Given the description of an element on the screen output the (x, y) to click on. 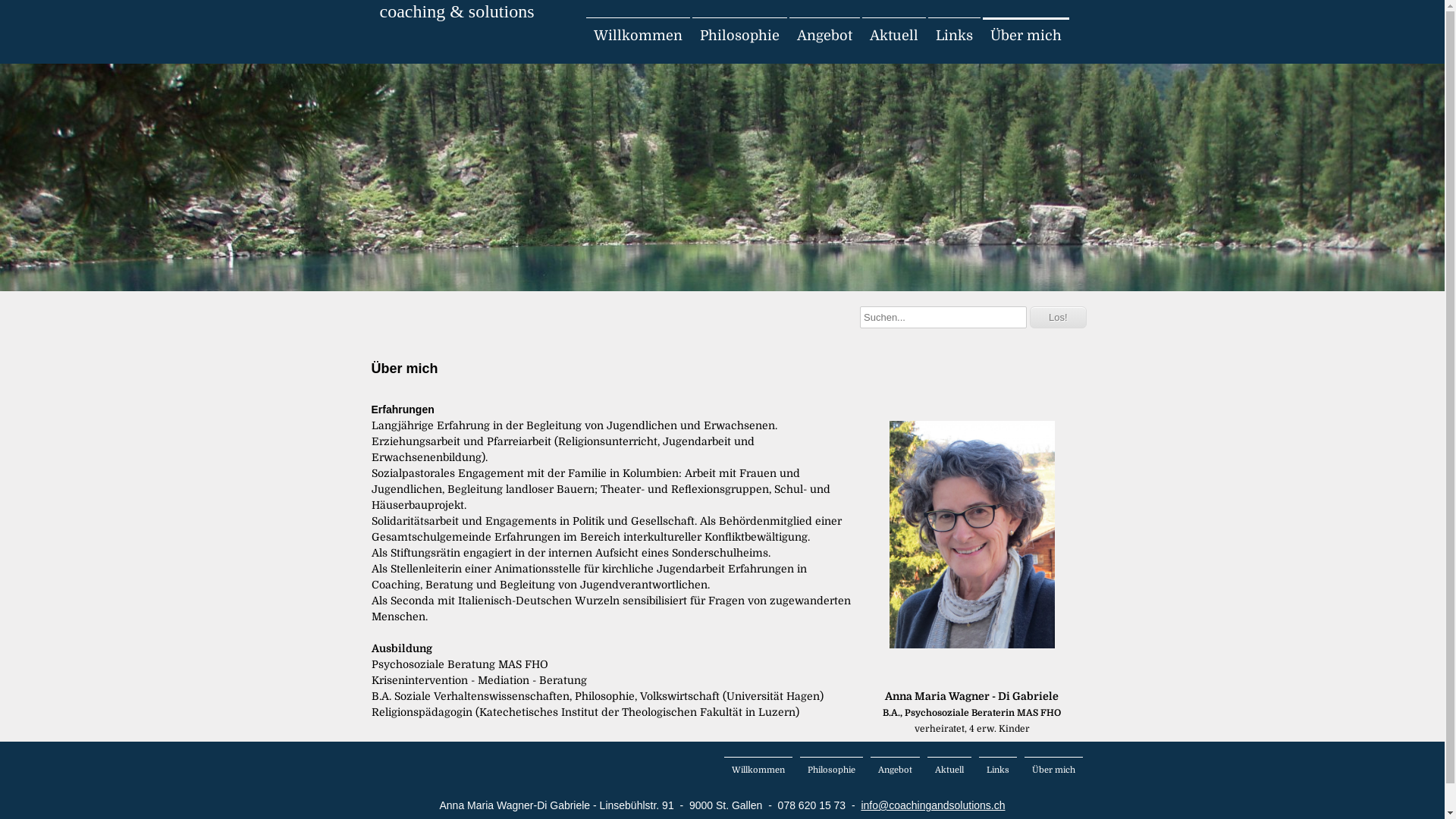
Aktuell Element type: text (948, 769)
Links Element type: text (954, 35)
Willkommen Element type: text (637, 35)
Los! Element type: text (1057, 317)
Angebot Element type: text (894, 769)
Philosophie Element type: text (738, 35)
info@coachingandsolutions.ch Element type: text (932, 805)
coaching & solutions Element type: text (456, 11)
Philosophie Element type: text (830, 769)
Aktuell Element type: text (893, 35)
Angebot Element type: text (823, 35)
Willkommen Element type: text (757, 769)
Links Element type: text (997, 769)
